Given the description of an element on the screen output the (x, y) to click on. 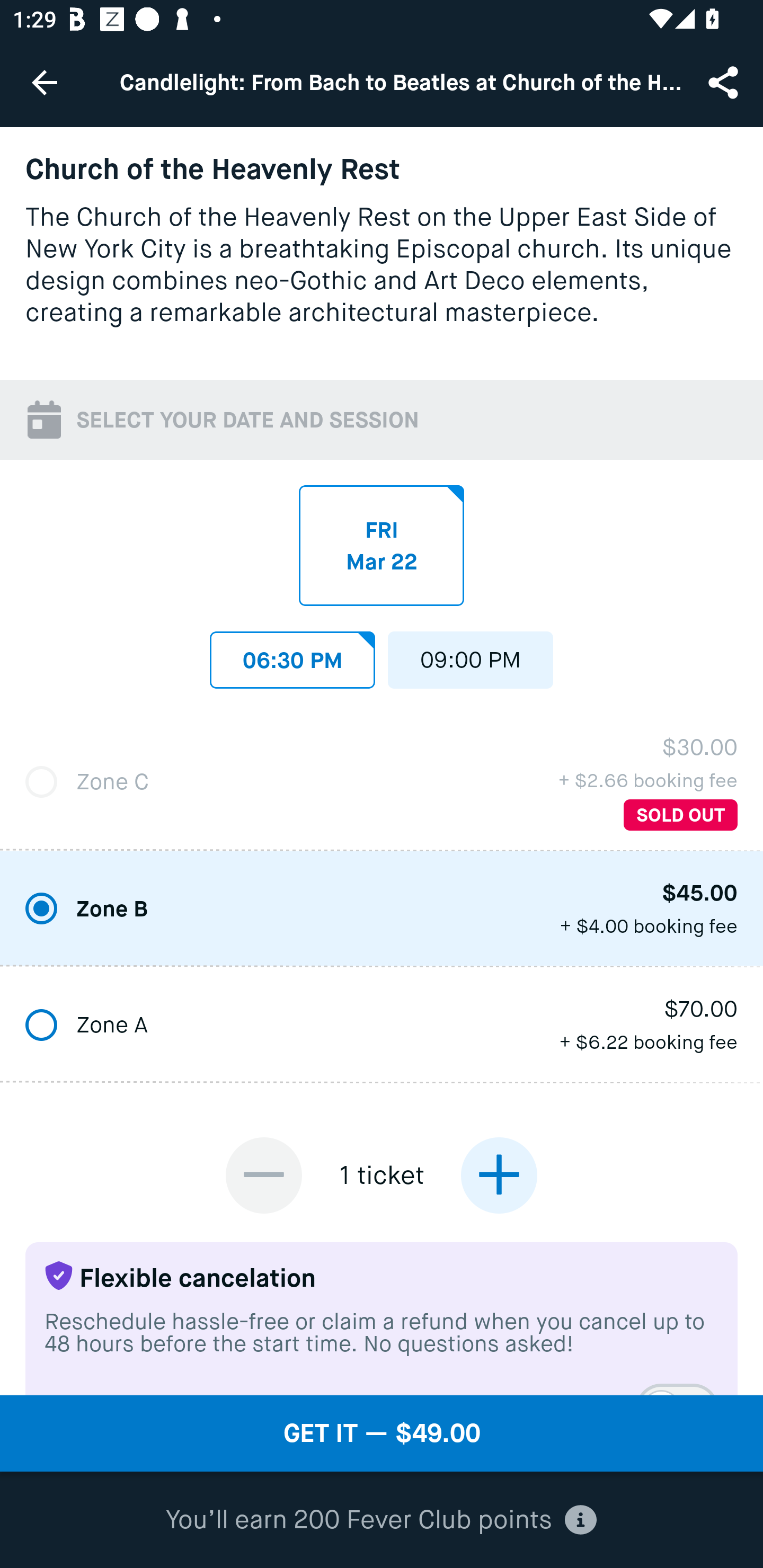
Navigate up (44, 82)
Share (724, 81)
FRI
Mar 22 (381, 544)
06:30 PM (292, 655)
09:00 PM (470, 655)
Zone C $30.00 + $2.66 booking fee SOLD OUT (381, 782)
Zone B $45.00 + $4.00 booking fee (381, 909)
Zone A $70.00 + $6.22 booking fee (381, 1025)
decrease (263, 1174)
increase (498, 1174)
GET IT — $49.00 (381, 1433)
You’ll earn 200 Fever Club points (380, 1519)
